Given the description of an element on the screen output the (x, y) to click on. 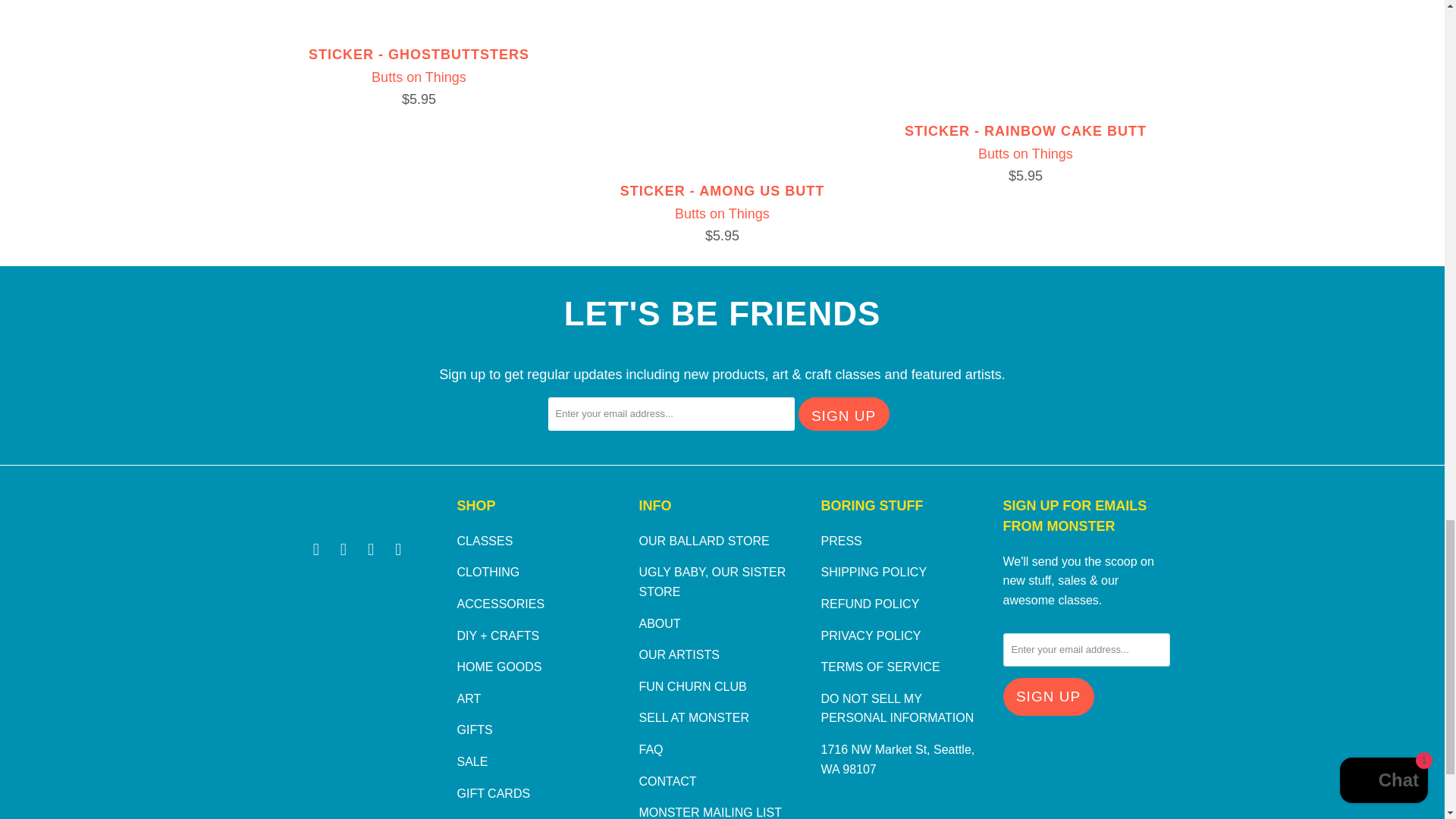
Sign Up (842, 413)
Sign Up (1048, 697)
